Given the description of an element on the screen output the (x, y) to click on. 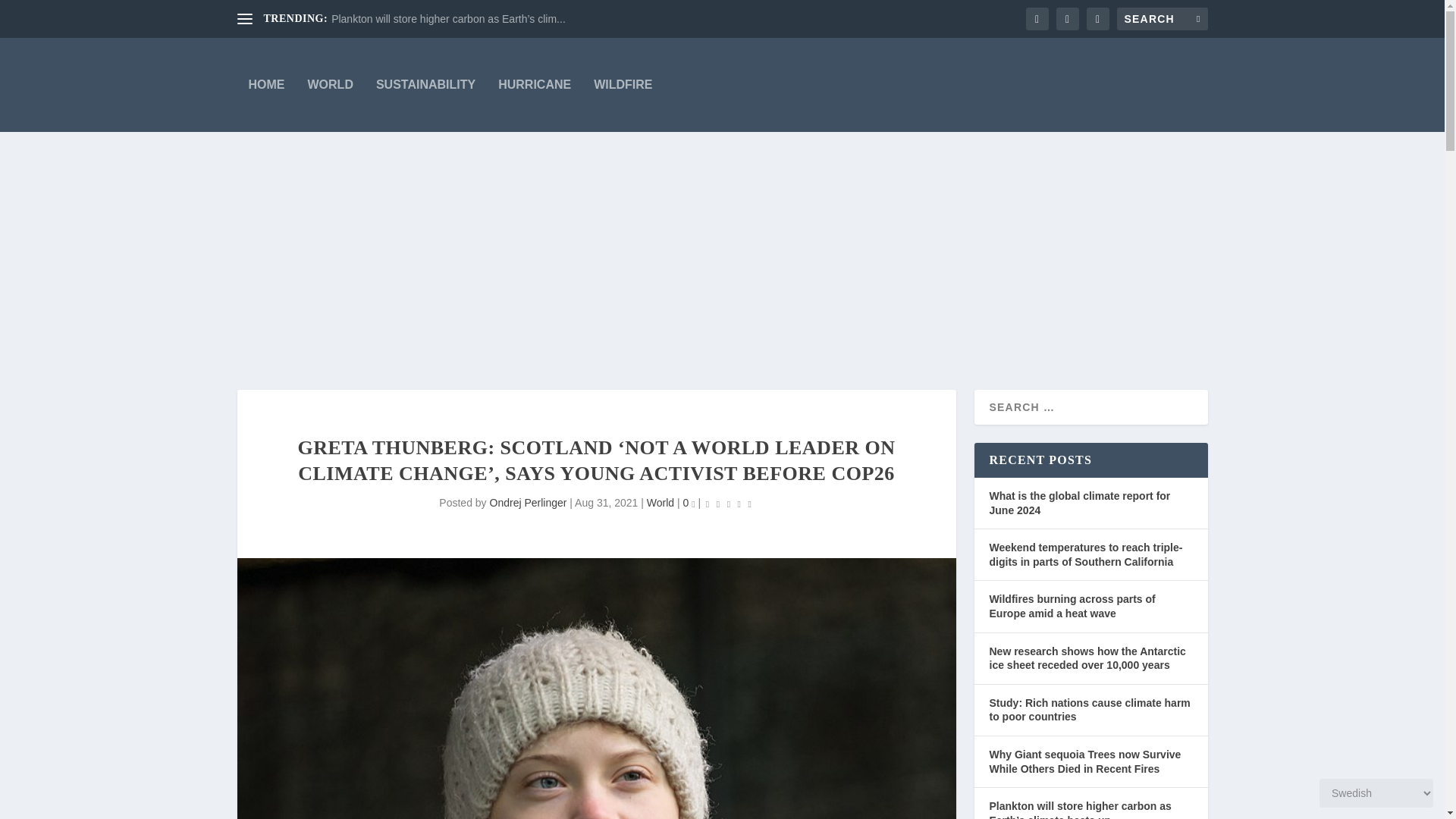
Search for: (1161, 18)
SUSTAINABILITY (425, 84)
World (660, 502)
0 (688, 502)
Rating: 0.00 (728, 503)
Posts by Ondrej Perlinger (528, 502)
Ondrej Perlinger (528, 502)
